Given the description of an element on the screen output the (x, y) to click on. 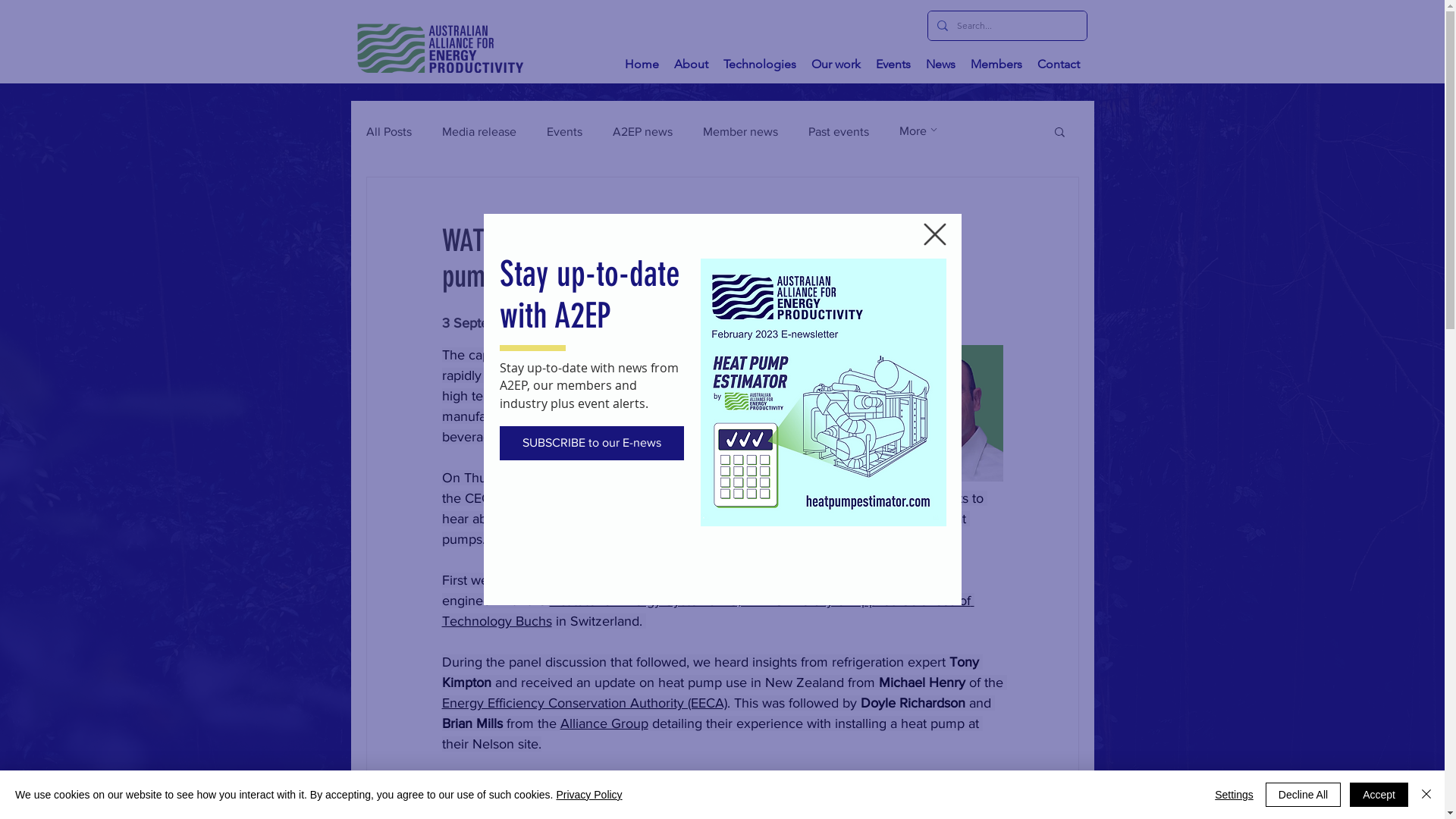
Privacy Policy Element type: text (588, 794)
Energy Efficiency Conservation Authority (EECA) Element type: text (583, 702)
News Element type: text (939, 64)
Past events Element type: text (838, 130)
Alliance Group Element type: text (603, 723)
Our work Element type: text (835, 64)
Back to site Element type: hover (934, 233)
Events Element type: text (563, 130)
Technologies Element type: text (759, 64)
SUBSCRIBE to our E-news Element type: text (590, 443)
Accept Element type: text (1378, 794)
Decline All Element type: text (1302, 794)
All Posts Element type: text (388, 130)
Home Element type: text (641, 64)
Multicolored Framed Shades Element type: hover (823, 392)
A2EP news Element type: text (642, 130)
Members Element type: text (996, 64)
Events Element type: text (892, 64)
Member news Element type: text (739, 130)
Contact Element type: text (1058, 64)
Media release Element type: text (478, 130)
About Element type: text (690, 64)
